Given the description of an element on the screen output the (x, y) to click on. 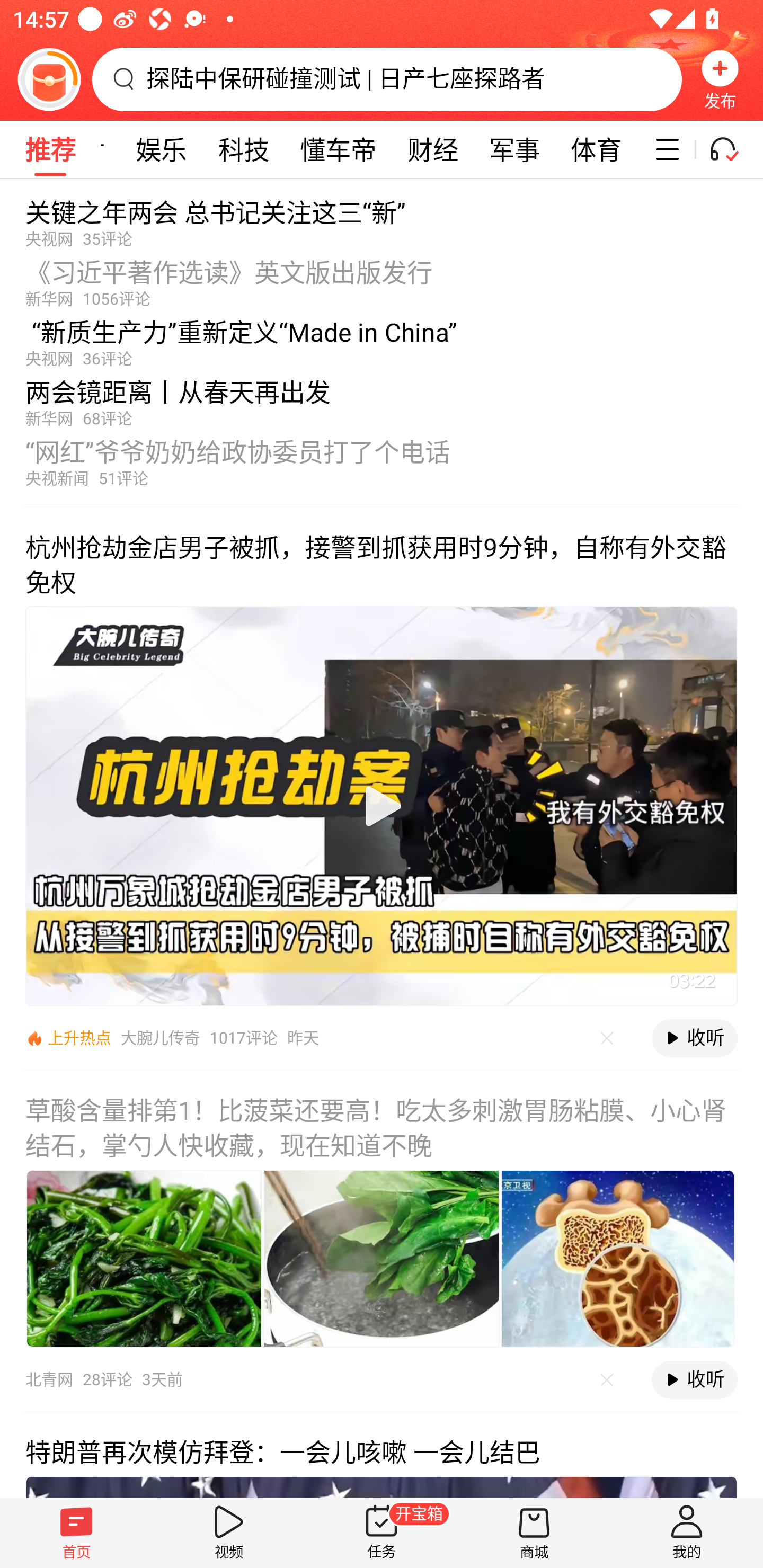
阅读赚金币 (48, 79)
探陆中保研碰撞测试 | 日产七座探路者 搜索框，探陆中保研碰撞测试 | 日产七座探路者 (387, 79)
发布 发布，按钮 (720, 78)
推荐 (49, 149)
娱乐 (161, 149)
科技 (243, 149)
懂车帝 (338, 149)
财经 (432, 149)
军事 (514, 149)
体育 (596, 149)
听一听开关 (732, 149)
两会镜距离丨从春天再出发新华网68评论 文章 两会镜距离丨从春天再出发 新华网68评论 (381, 398)
播放视频 视频播放器，双击屏幕打开播放控制 (381, 805)
播放视频 (381, 806)
收听 (694, 1037)
不感兴趣 (607, 1037)
内容图片 (143, 1258)
内容图片 (381, 1258)
内容图片 (617, 1258)
收听 (694, 1379)
不感兴趣 (607, 1379)
首页 (76, 1532)
视频 (228, 1532)
任务 开宝箱 (381, 1532)
商城 (533, 1532)
我的 (686, 1532)
